Given the description of an element on the screen output the (x, y) to click on. 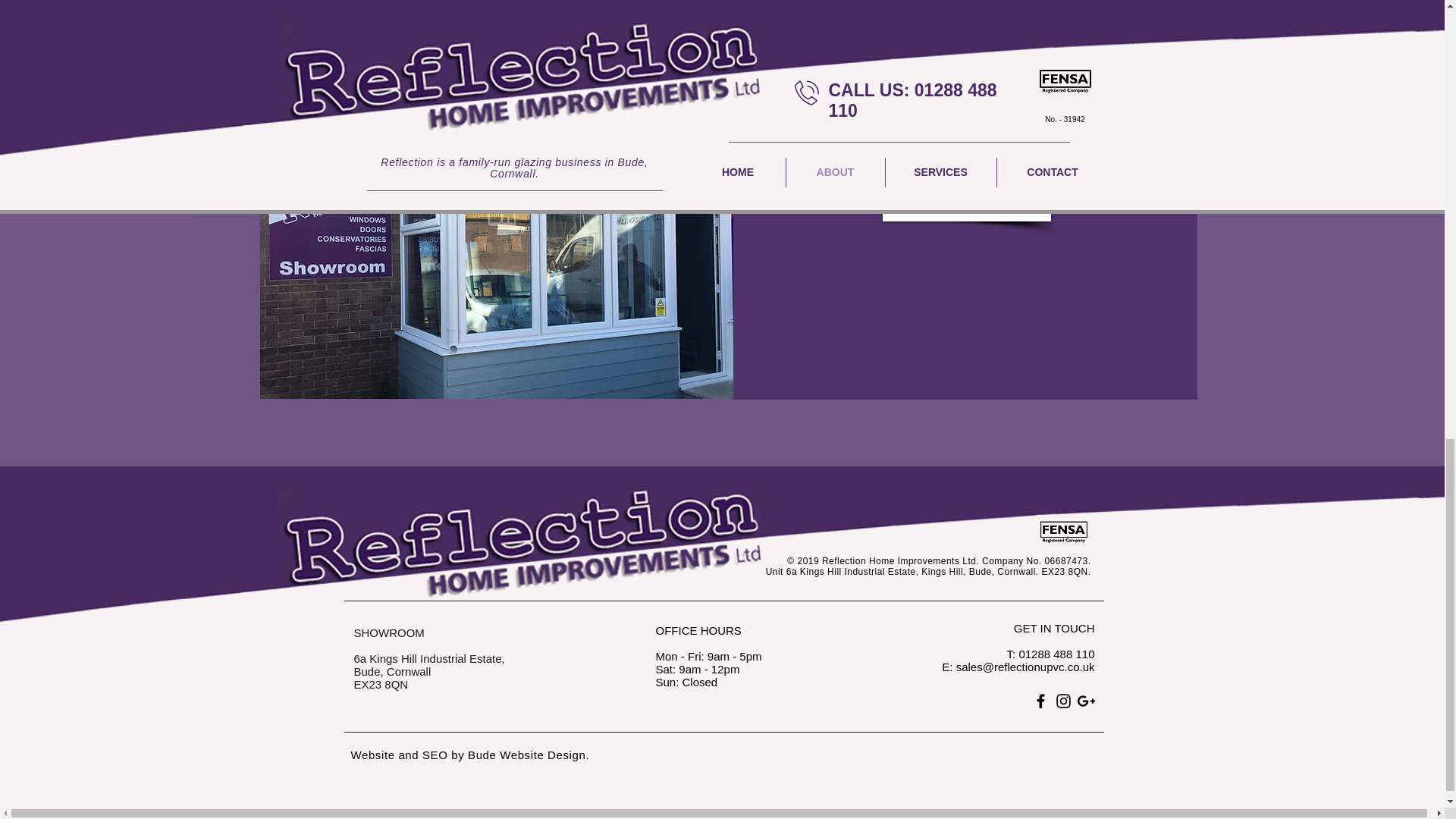
Website and SEO by Bude Website Design. (469, 754)
Company No. 06687473. (1035, 561)
VIEW SERVICES (966, 136)
CONTACT US (966, 201)
